Given the description of an element on the screen output the (x, y) to click on. 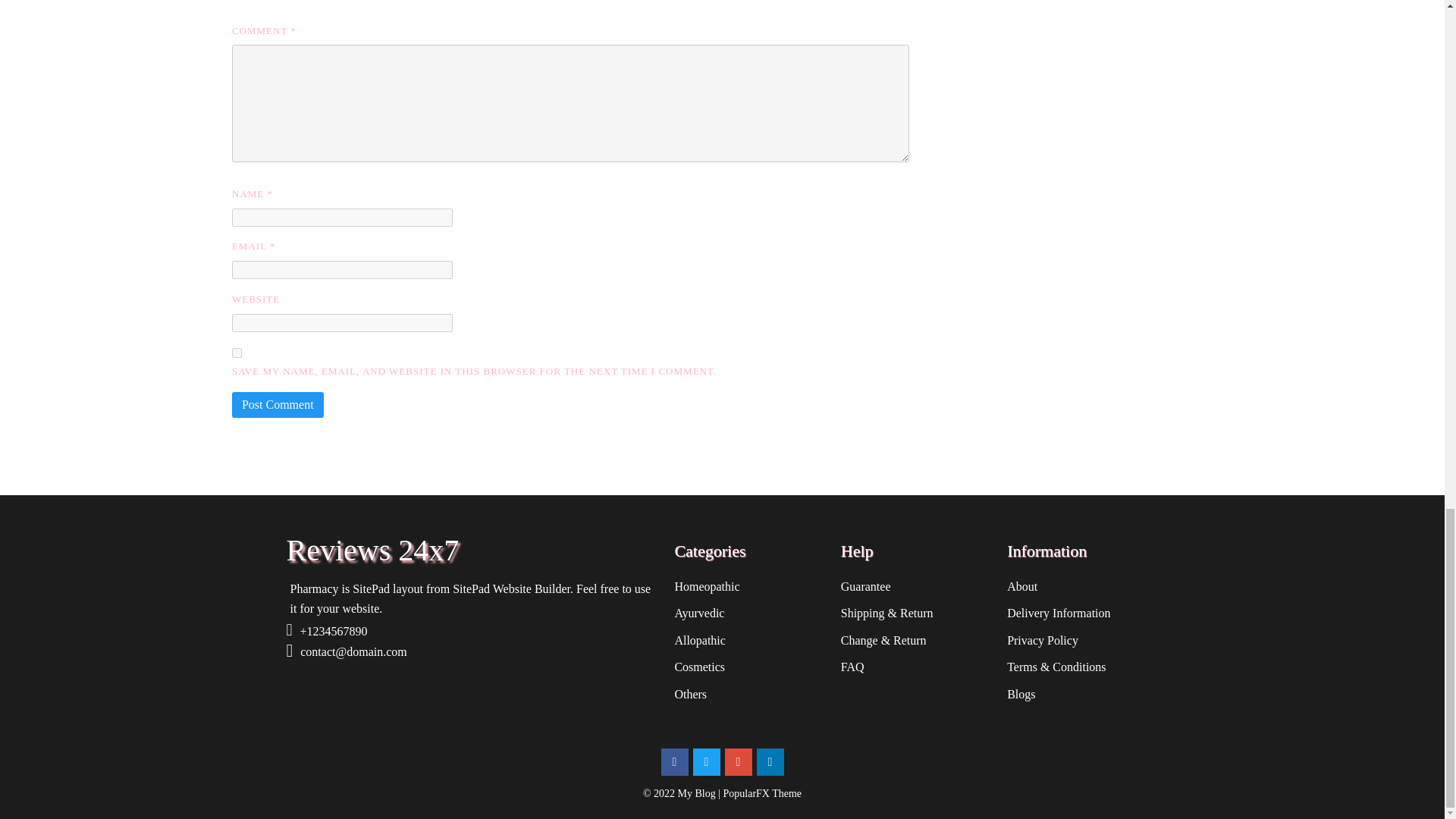
yes (236, 352)
Reviews 24x7 (472, 550)
PopularFX Theme (762, 793)
Post Comment (277, 404)
Post Comment (277, 404)
